Given the description of an element on the screen output the (x, y) to click on. 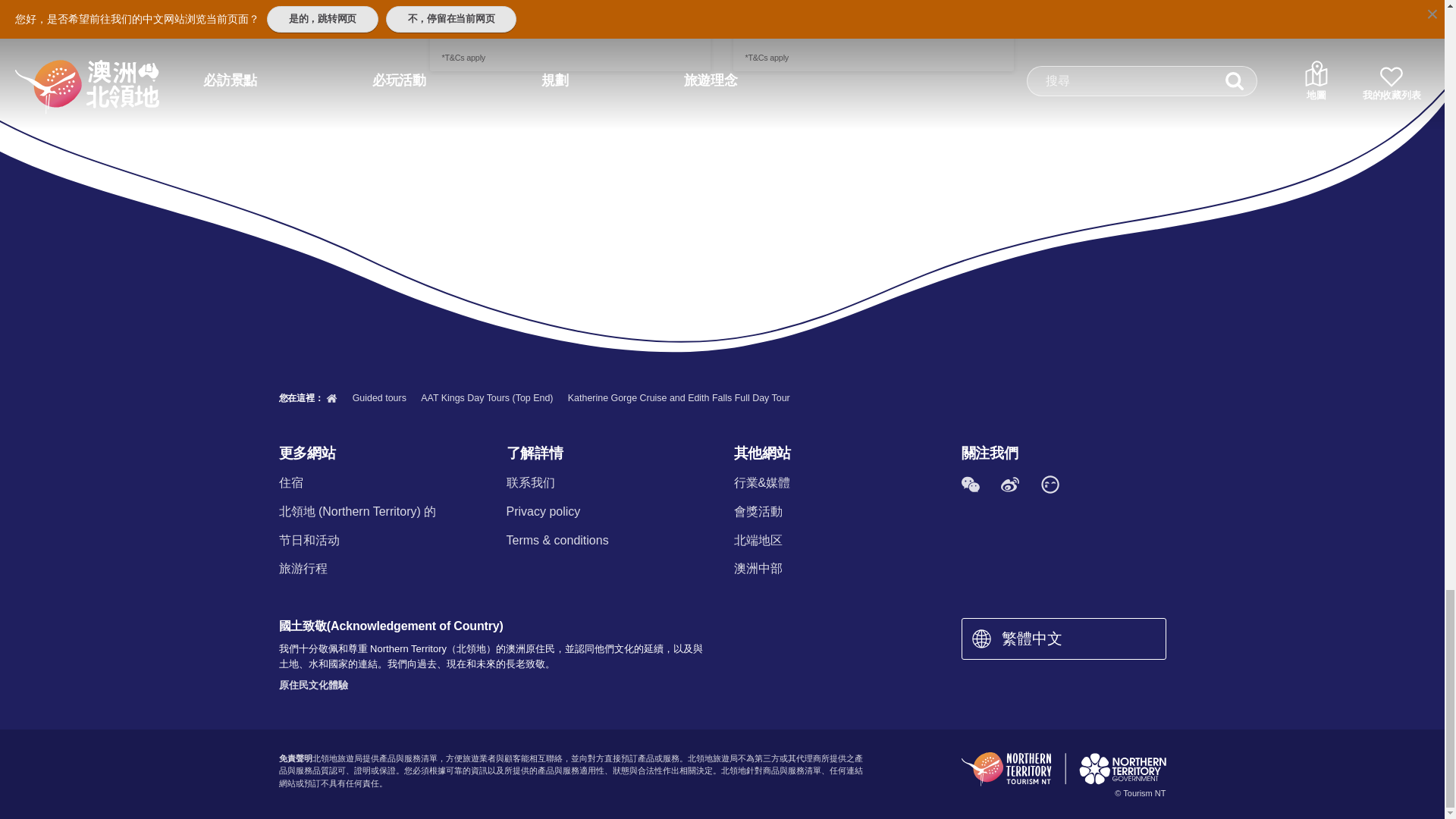
Opens in a new window (569, 35)
Opens in a new window (873, 35)
wechat (970, 483)
